Given the description of an element on the screen output the (x, y) to click on. 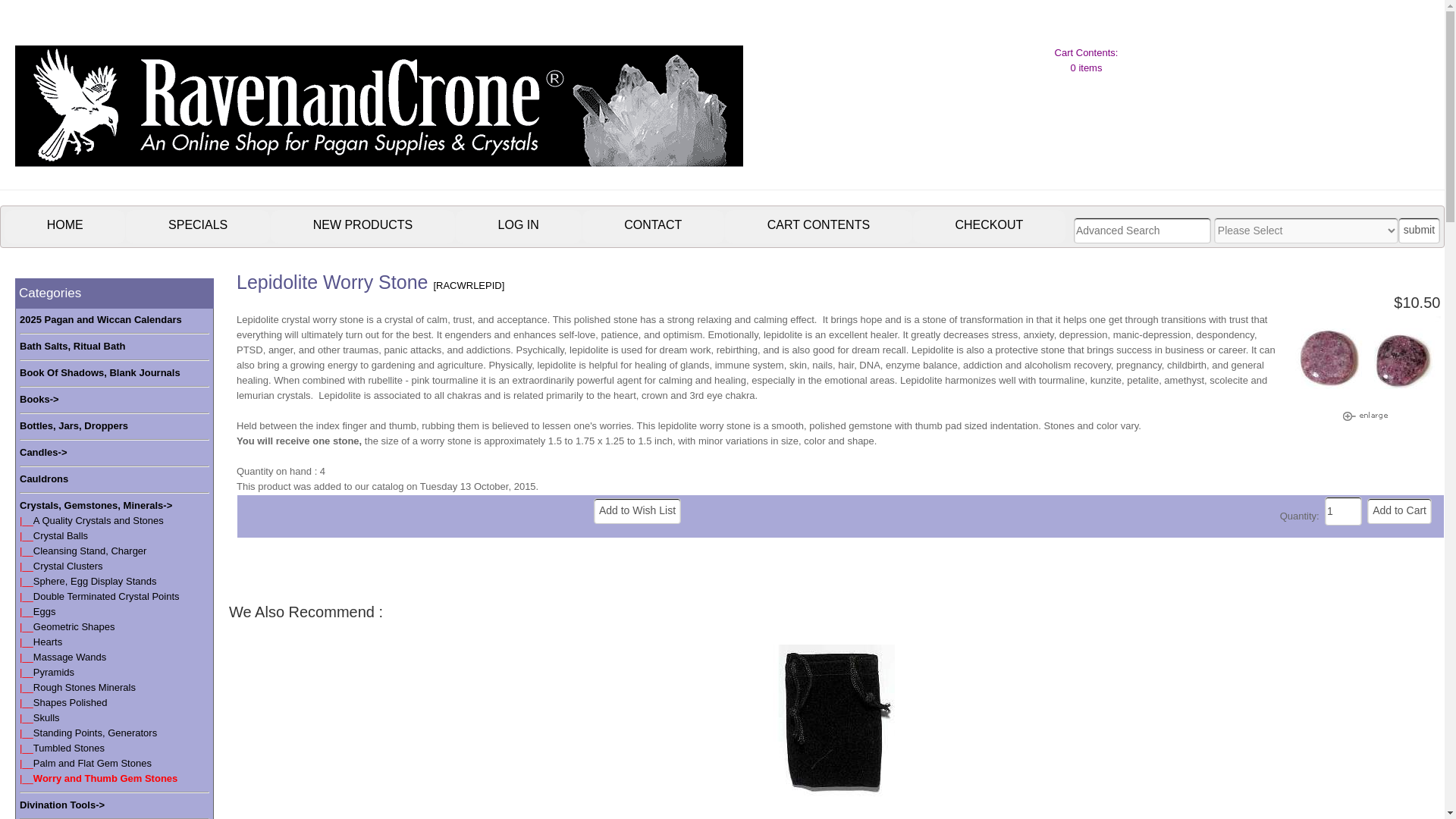
Sphere, Egg Display Stands (95, 581)
Double Terminated Crystal Points (106, 596)
Bath Salts, Ritual Bath (72, 346)
Bottles, Jars, Droppers (74, 426)
 Click to enlarge  (1365, 416)
Cauldrons (44, 478)
Crystal Balls (60, 535)
Add to Cart (1399, 510)
Add to Cart (1399, 510)
Add to Cart (1399, 510)
Crystal Clusters (68, 566)
A Quality Crystals and Stones (98, 520)
2025 Pagan and Wiccan Calendars (101, 319)
Eggs (44, 611)
Add to Wish List (637, 510)
